Given the description of an element on the screen output the (x, y) to click on. 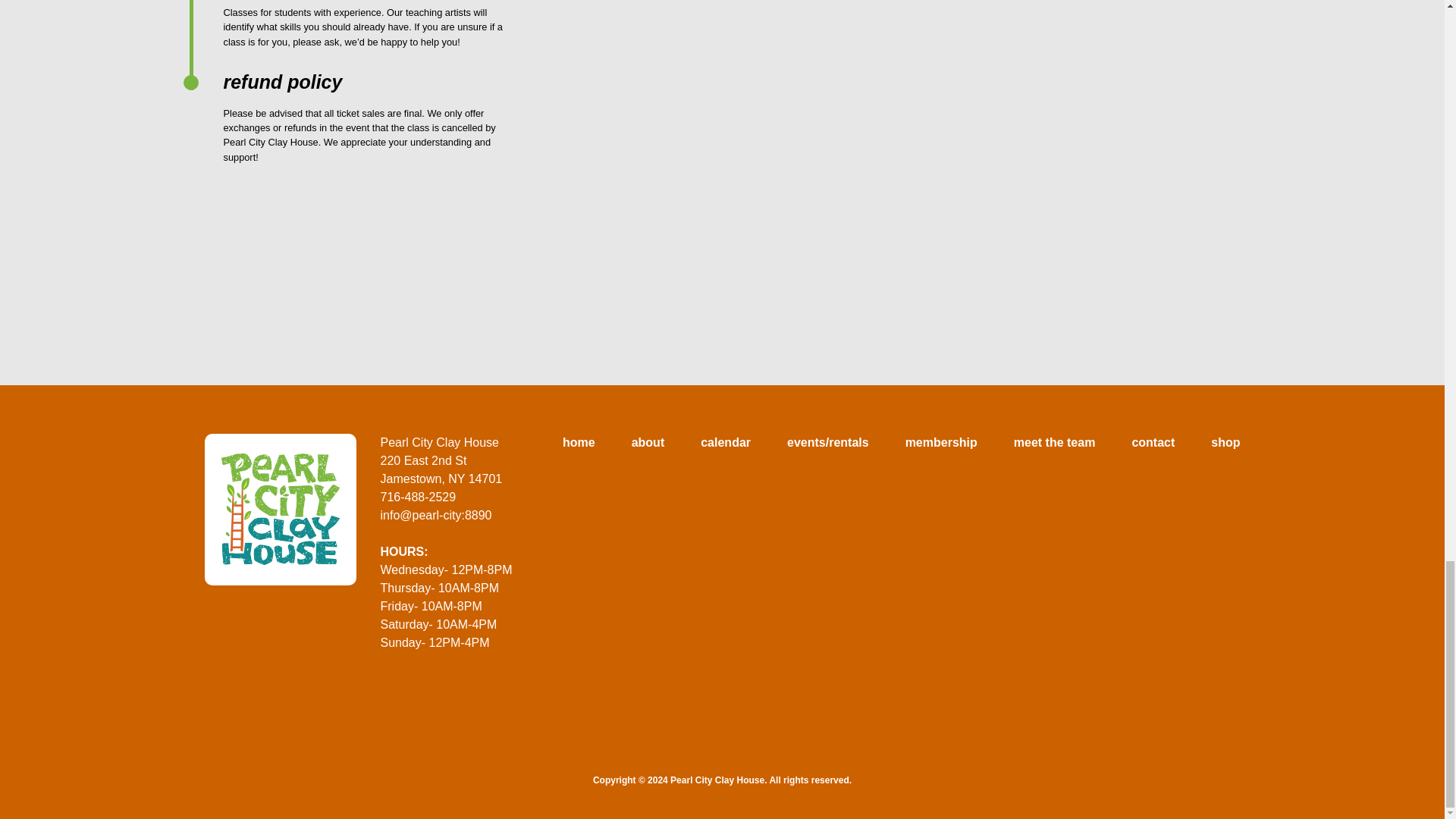
meet the team (1054, 443)
contact (1152, 443)
membership (940, 443)
about (648, 443)
home (578, 443)
shop (1225, 443)
calendar (725, 443)
